Given the description of an element on the screen output the (x, y) to click on. 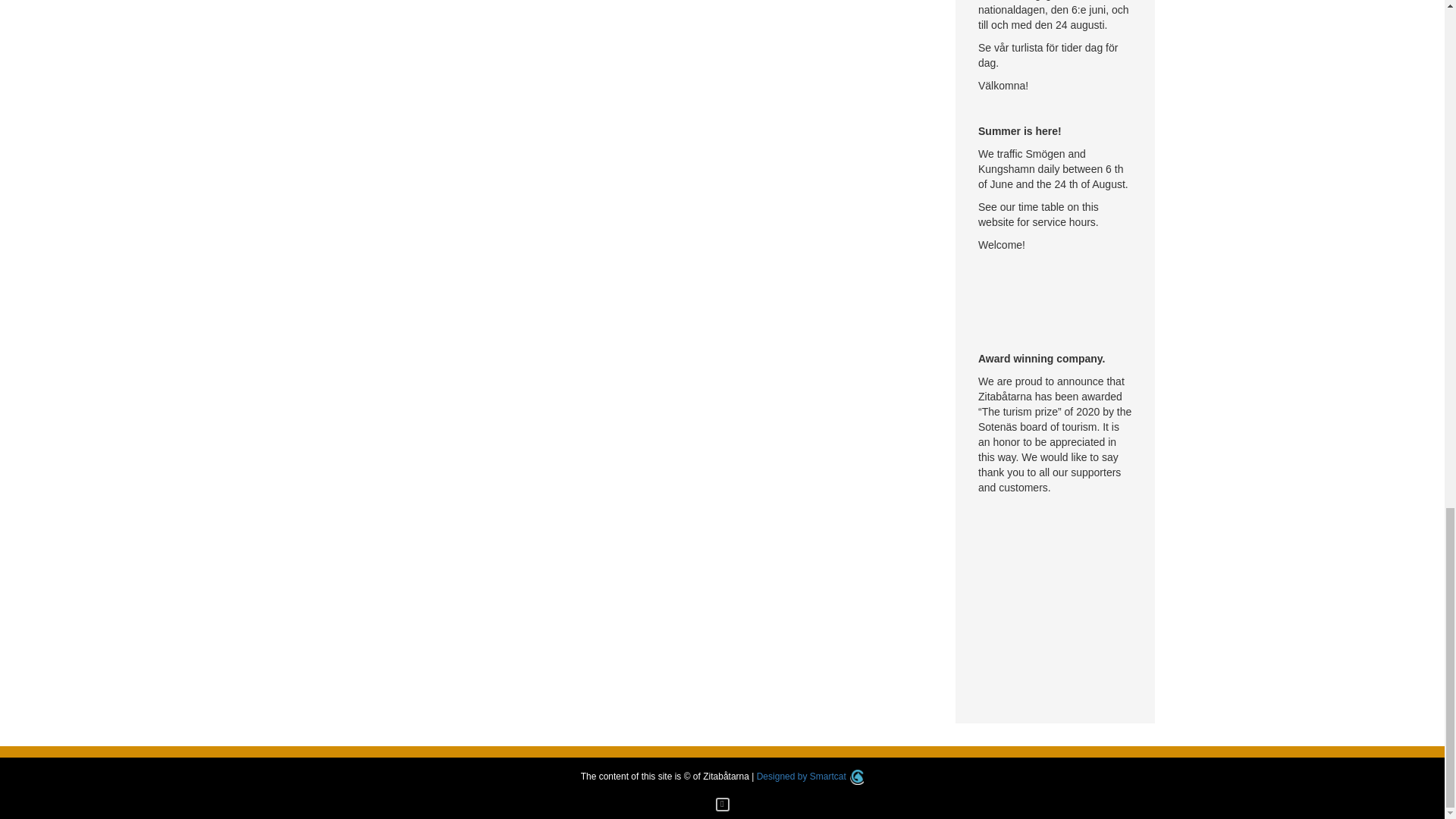
Designed by Smartcat (810, 776)
Page 1 (1055, 302)
